Given the description of an element on the screen output the (x, y) to click on. 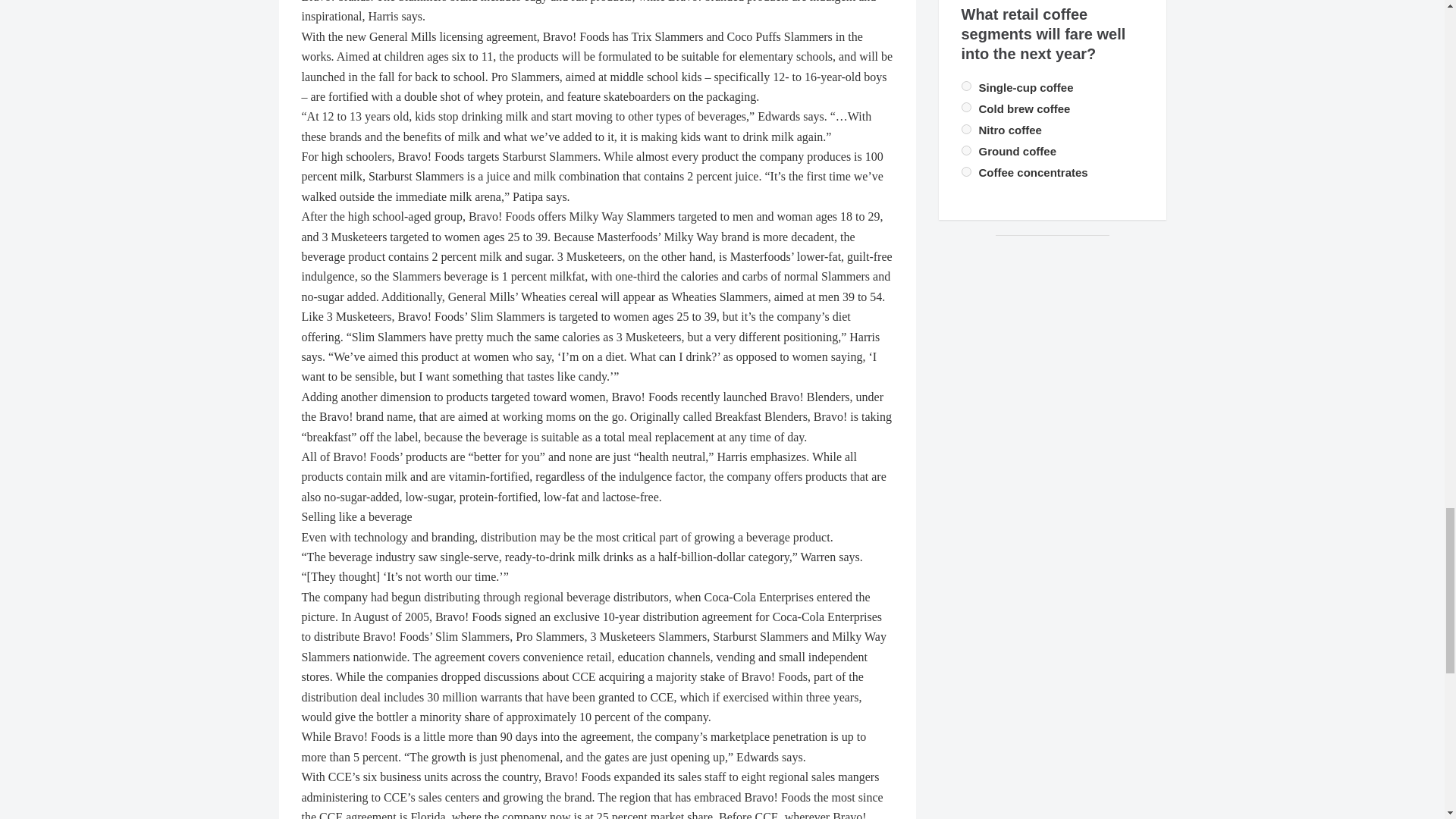
3095 (965, 171)
3094 (965, 129)
3093 (965, 107)
3096 (965, 150)
3092 (965, 85)
